Given the description of an element on the screen output the (x, y) to click on. 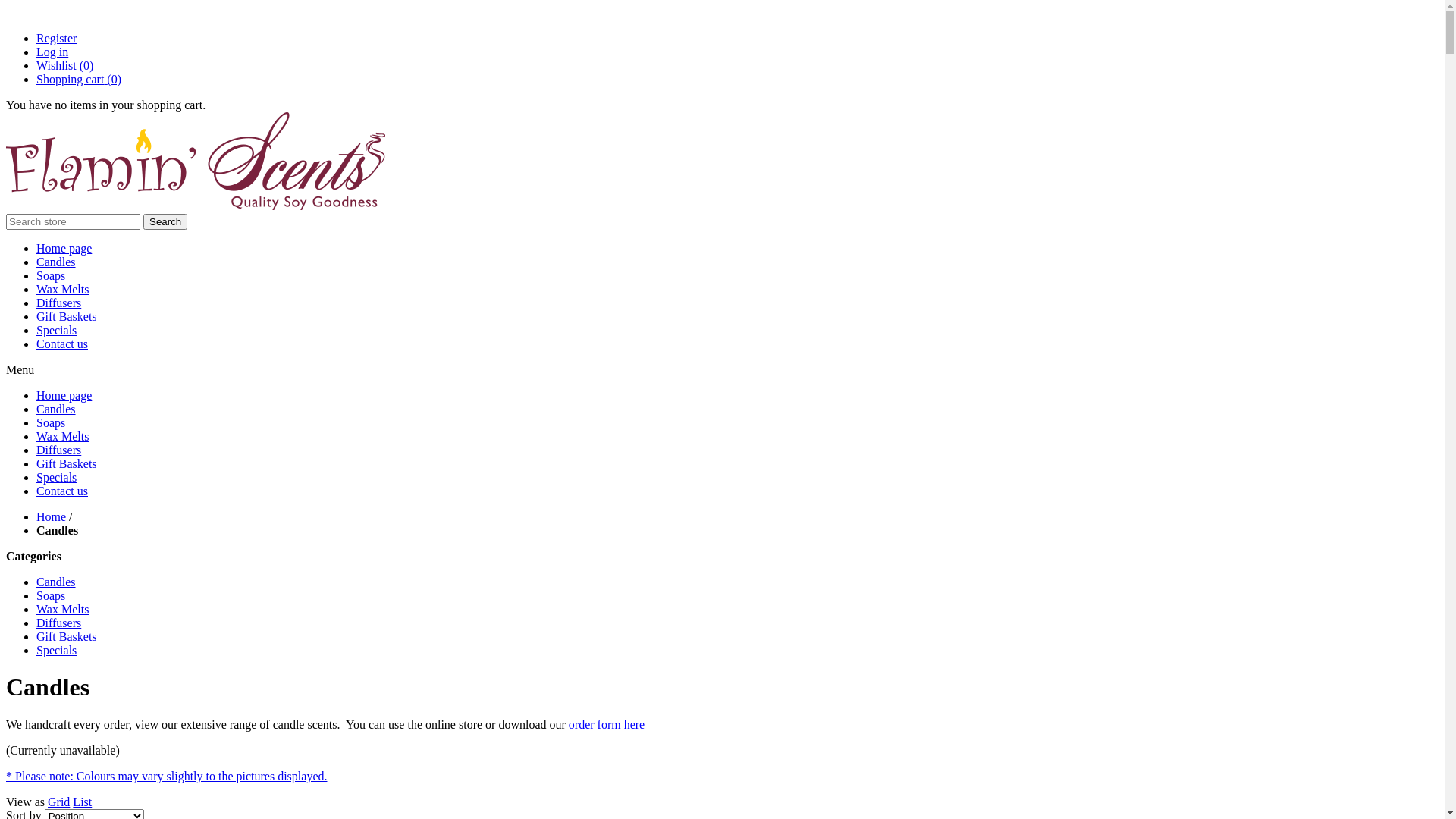
Soaps Element type: text (50, 422)
Diffusers Element type: text (58, 622)
Log in Element type: text (52, 51)
Soaps Element type: text (50, 275)
Wax Melts Element type: text (62, 608)
Diffusers Element type: text (58, 449)
Home Element type: text (50, 516)
Close Element type: hover (7, 12)
Specials Element type: text (56, 476)
Contact us Element type: text (61, 343)
Gift Baskets Element type: text (66, 463)
Wax Melts Element type: text (62, 435)
Wax Melts Element type: text (62, 288)
Diffusers Element type: text (58, 302)
Wishlist (0) Element type: text (64, 65)
Gift Baskets Element type: text (66, 316)
Gift Baskets Element type: text (66, 636)
List Element type: text (81, 801)
Register Element type: text (56, 37)
Shopping cart (0) Element type: text (78, 78)
Grid Element type: text (58, 801)
Home page Element type: text (63, 395)
Candles Element type: text (55, 408)
Specials Element type: text (56, 649)
Candles Element type: text (55, 261)
Specials Element type: text (56, 329)
Soaps Element type: text (50, 595)
Candles Element type: text (55, 581)
Search Element type: text (165, 221)
Home page Element type: text (63, 247)
Contact us Element type: text (61, 490)
